Given the description of an element on the screen output the (x, y) to click on. 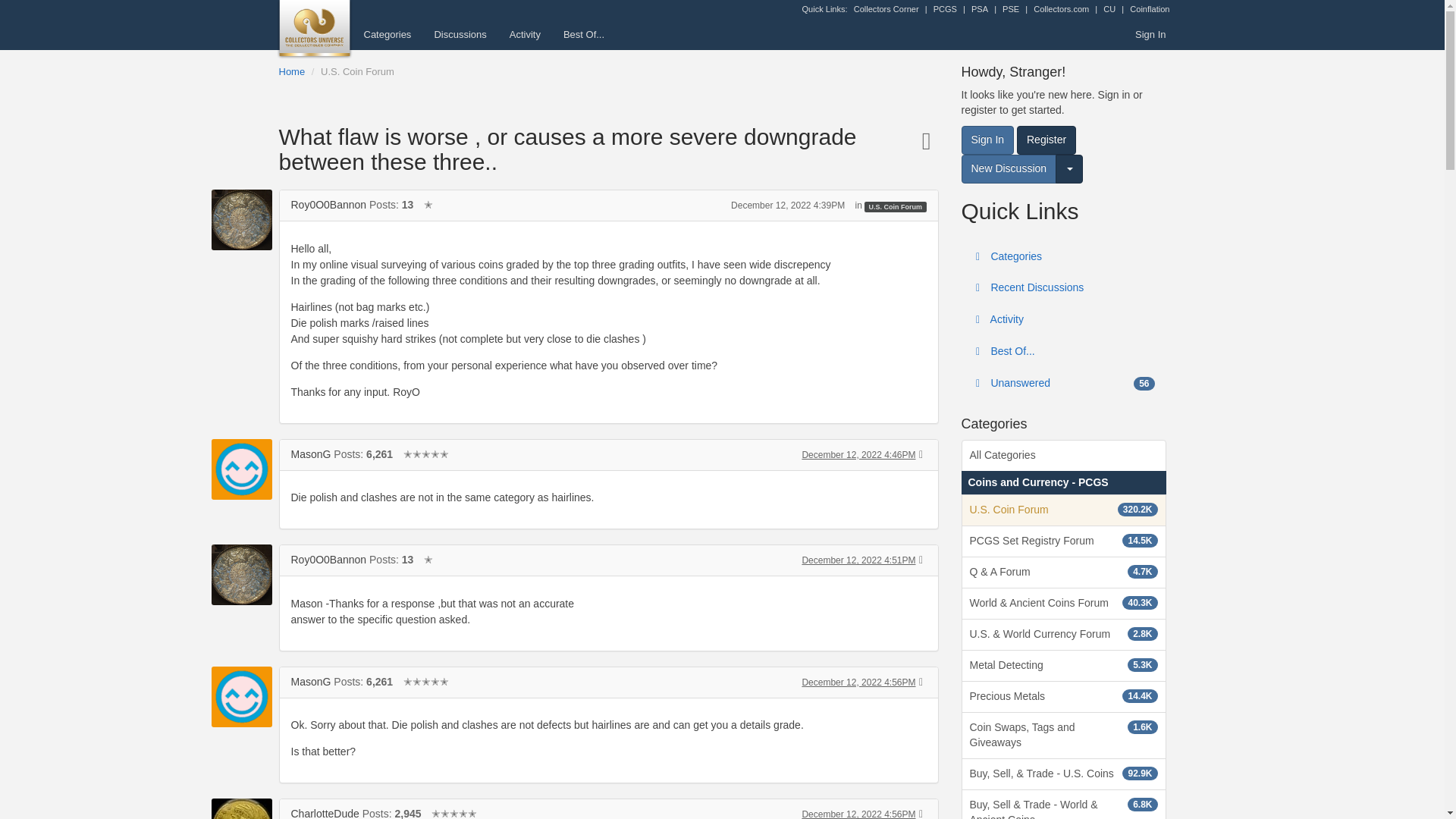
Roy0O0Bannon (240, 574)
PSA - Professional SportsCard Authenticators (979, 8)
PSE (1011, 8)
Roy0O0Bannon (328, 204)
PCGS - Professional Coin Grading (944, 8)
PSA (979, 8)
Collectors.com (1061, 8)
PSE - Professional Stamp Experts (1011, 8)
Home (292, 71)
Roy0O0Bannon (240, 219)
MasonG (311, 453)
PCGS (944, 8)
Collectors Universe - The Collectibles Company (1109, 8)
Activity (524, 34)
December 12, 2022 4:51PM (858, 560)
